Given the description of an element on the screen output the (x, y) to click on. 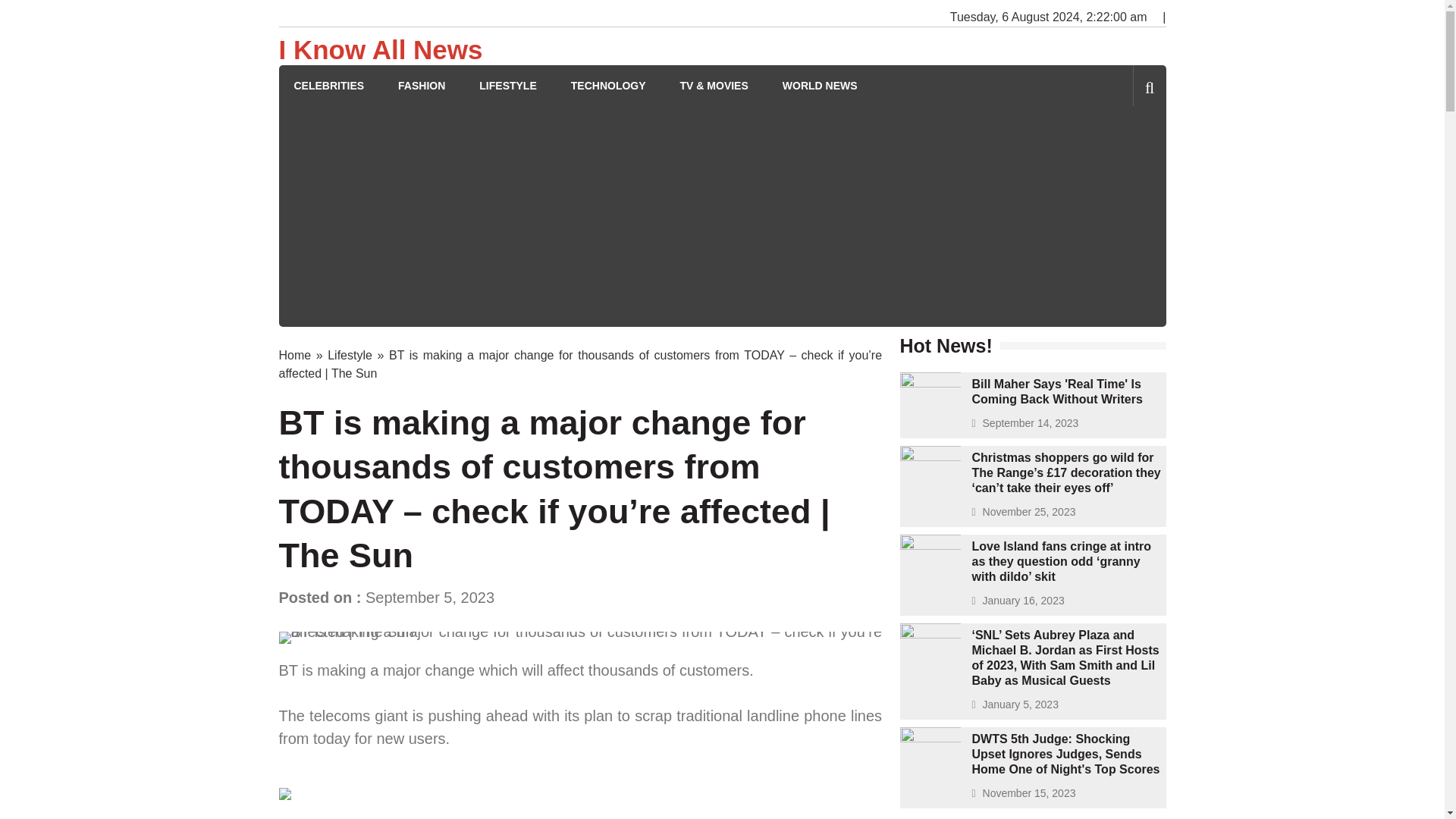
January 5, 2023 (1020, 704)
Search (1123, 150)
September 5, 2023 (430, 597)
I Know All News (381, 50)
November 25, 2023 (1028, 511)
TECHNOLOGY (608, 86)
WORLD NEWS (820, 86)
CELEBRITIES (329, 86)
January 16, 2023 (1023, 600)
November 15, 2023 (1028, 793)
FASHION (421, 86)
Home (295, 354)
LIFESTYLE (507, 86)
Lifestyle (349, 354)
